Given the description of an element on the screen output the (x, y) to click on. 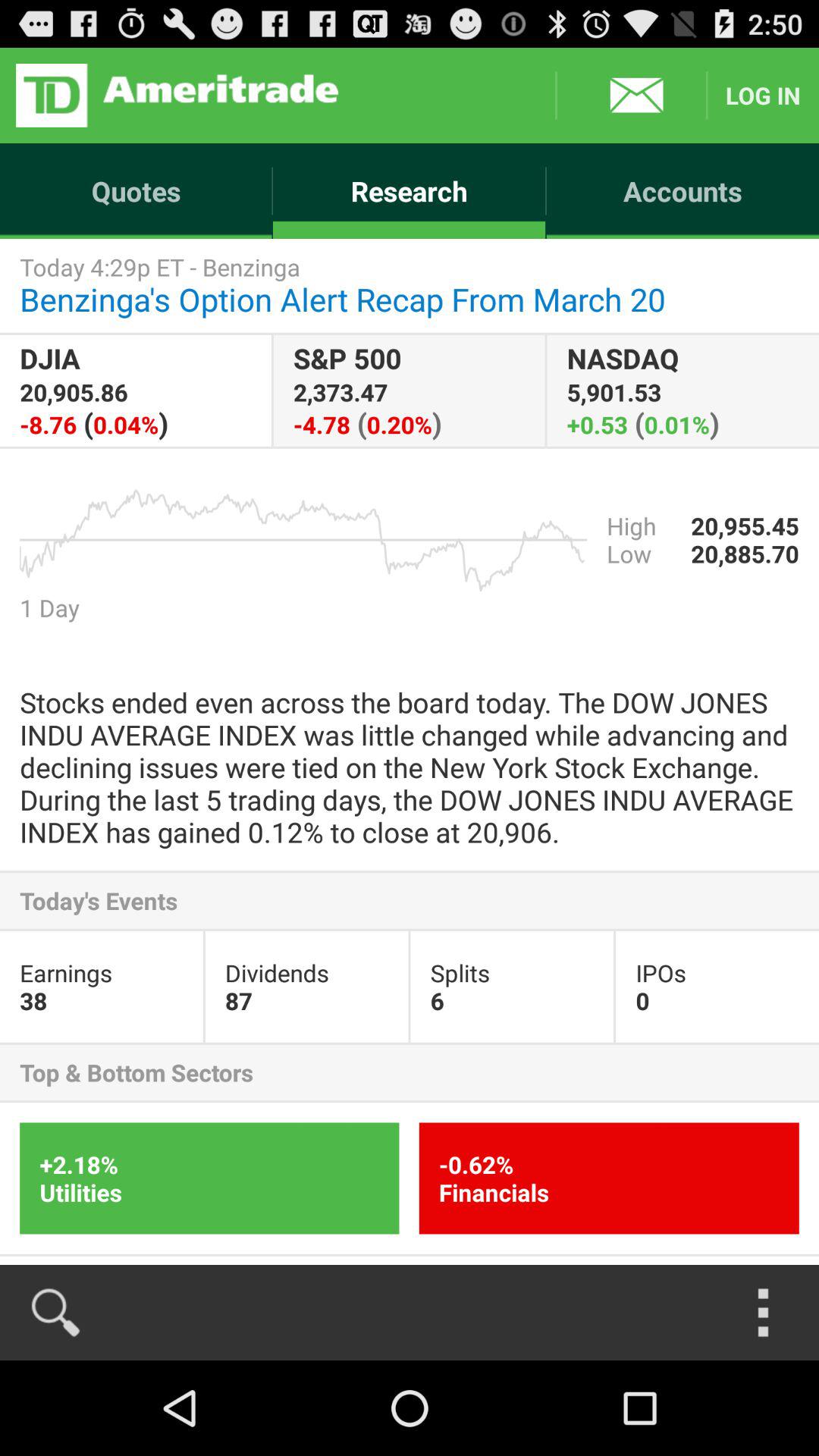
select icon to the left of accounts (176, 95)
